Given the description of an element on the screen output the (x, y) to click on. 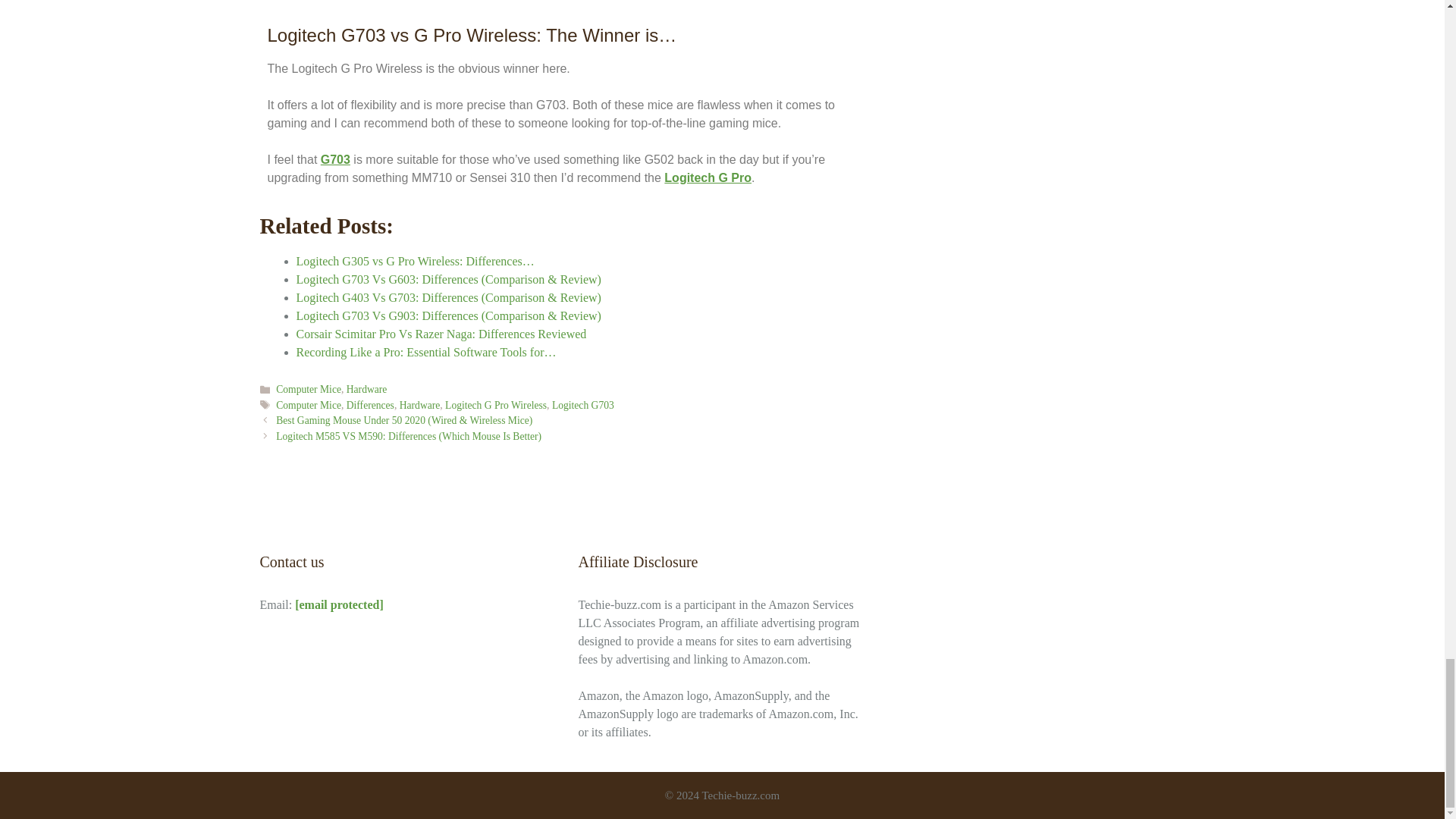
G703 (335, 159)
Logitech G Pro (707, 177)
Logitech G703 (582, 405)
Computer Mice (308, 405)
Hardware (366, 389)
Computer Mice (308, 389)
Logitech G Pro Wireless (496, 405)
Corsair Scimitar Pro Vs Razer Naga: Differences Reviewed (440, 333)
Differences (370, 405)
Hardware (419, 405)
